Given the description of an element on the screen output the (x, y) to click on. 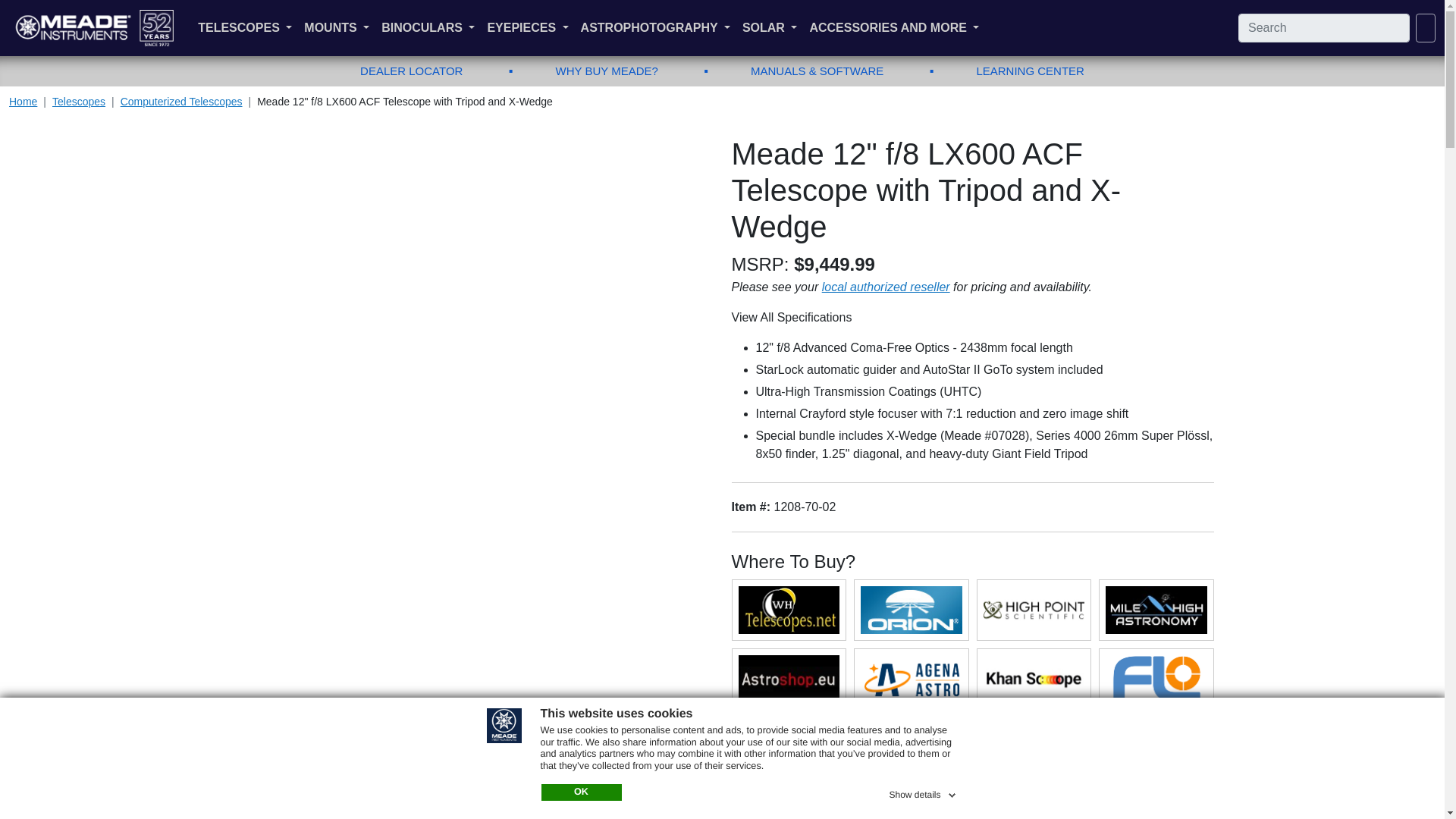
OK (581, 791)
Show details (923, 791)
